Given the description of an element on the screen output the (x, y) to click on. 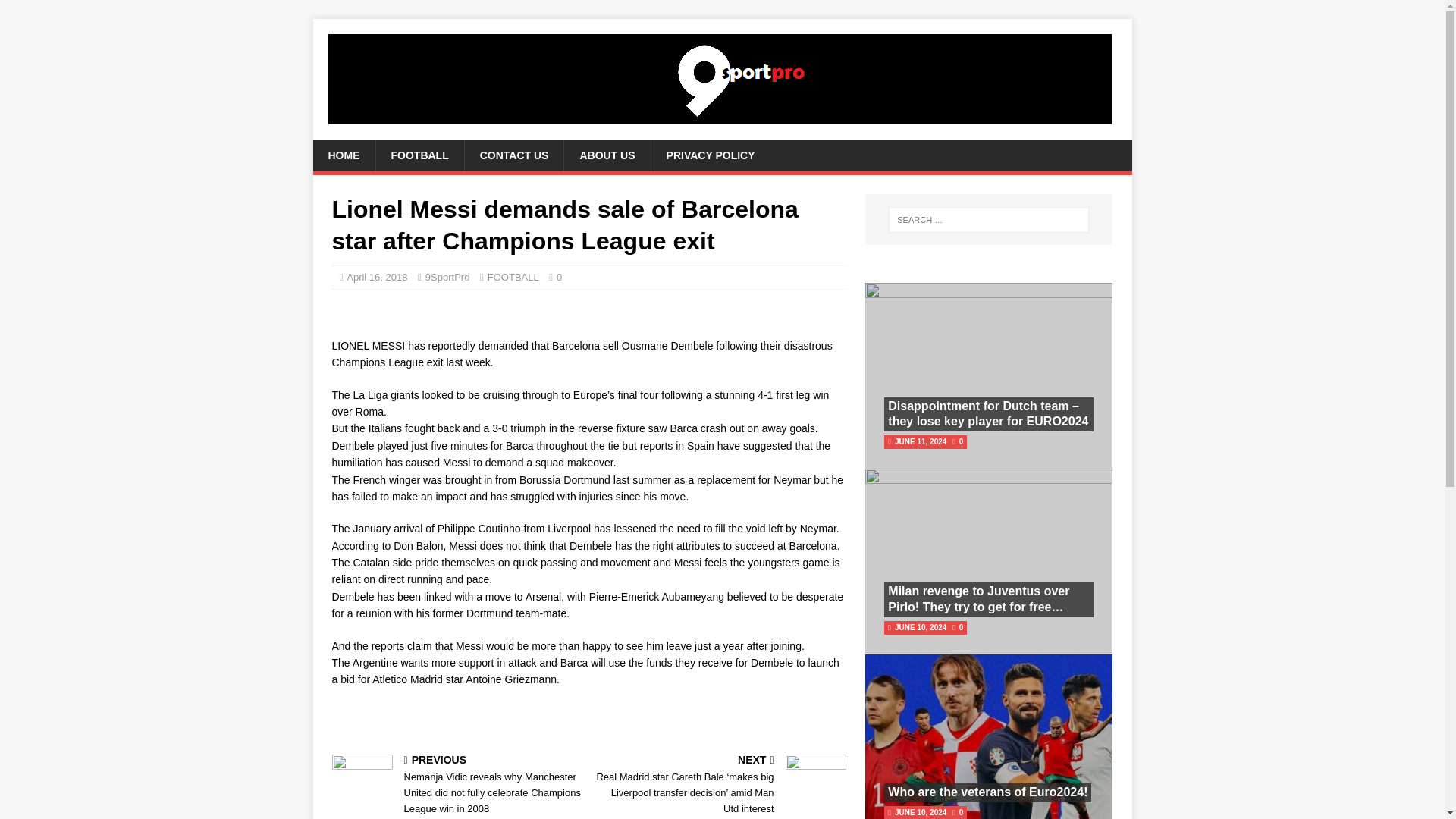
CONTACT US (514, 155)
Who are the veterans of Euro2024! (987, 791)
Search (56, 11)
FOOTBALL (418, 155)
9SportPro (447, 276)
Who are the veterans of Euro2024! (987, 791)
HOME (343, 155)
PRIVACY POLICY (710, 155)
ABOUT US (606, 155)
FOOTBALL (512, 276)
April 16, 2018 (376, 276)
